Given the description of an element on the screen output the (x, y) to click on. 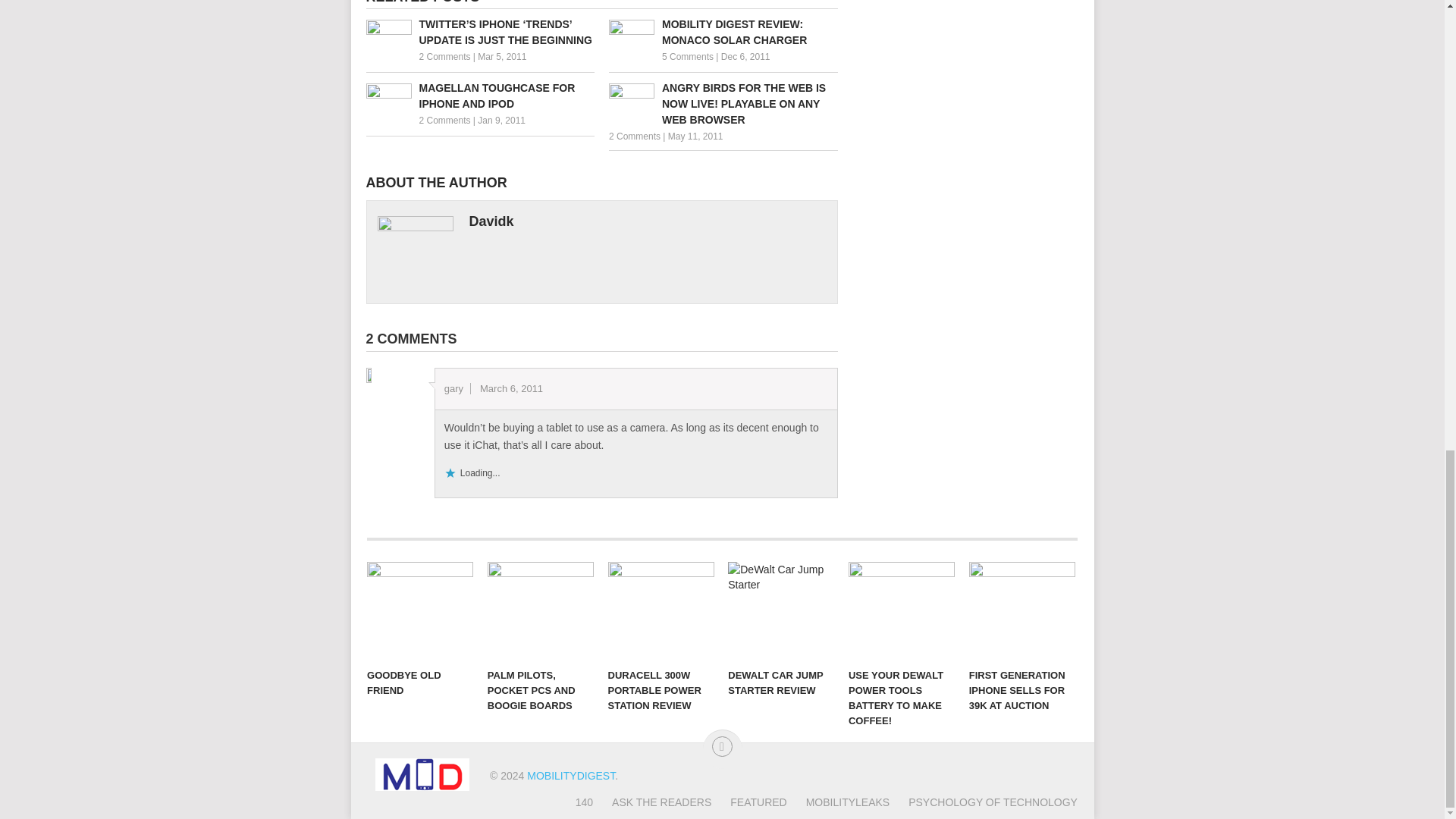
USE YOUR DEWALT POWER TOOLS BATTERY TO MAKE COFFEE! (901, 610)
2 Comments (444, 120)
MAGELLAN TOUGHCASE FOR IPHONE AND IPOD (479, 96)
Mobility Digest Review: Monaco Solar Charger (723, 32)
2 Comments (444, 56)
GOODBYE OLD FRIEND (419, 610)
DEWALT CAR JUMP STARTER REVIEW (781, 610)
2 Comments (634, 136)
PALM PILOTS, POCKET PCS AND BOOGIE BOARDS (540, 610)
